Given the description of an element on the screen output the (x, y) to click on. 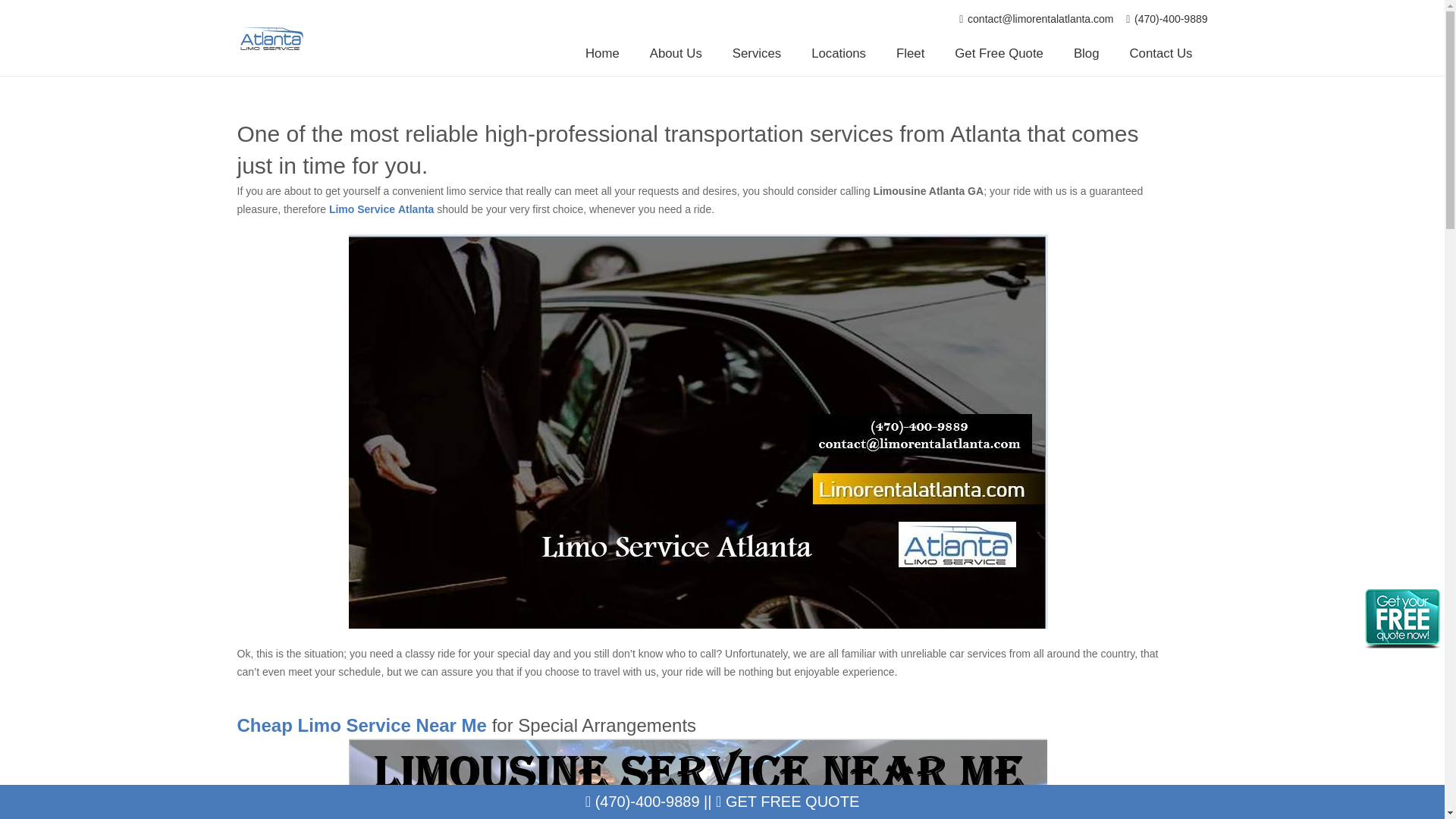
Limo Service Atlanta (381, 209)
Contact Us (1161, 53)
Cheap Limo Service Near Me (360, 724)
Locations (838, 53)
Services (756, 53)
About Us (675, 53)
Blog (1086, 53)
Home (602, 53)
Get Free Quote (998, 53)
Fleet (909, 53)
